Given the description of an element on the screen output the (x, y) to click on. 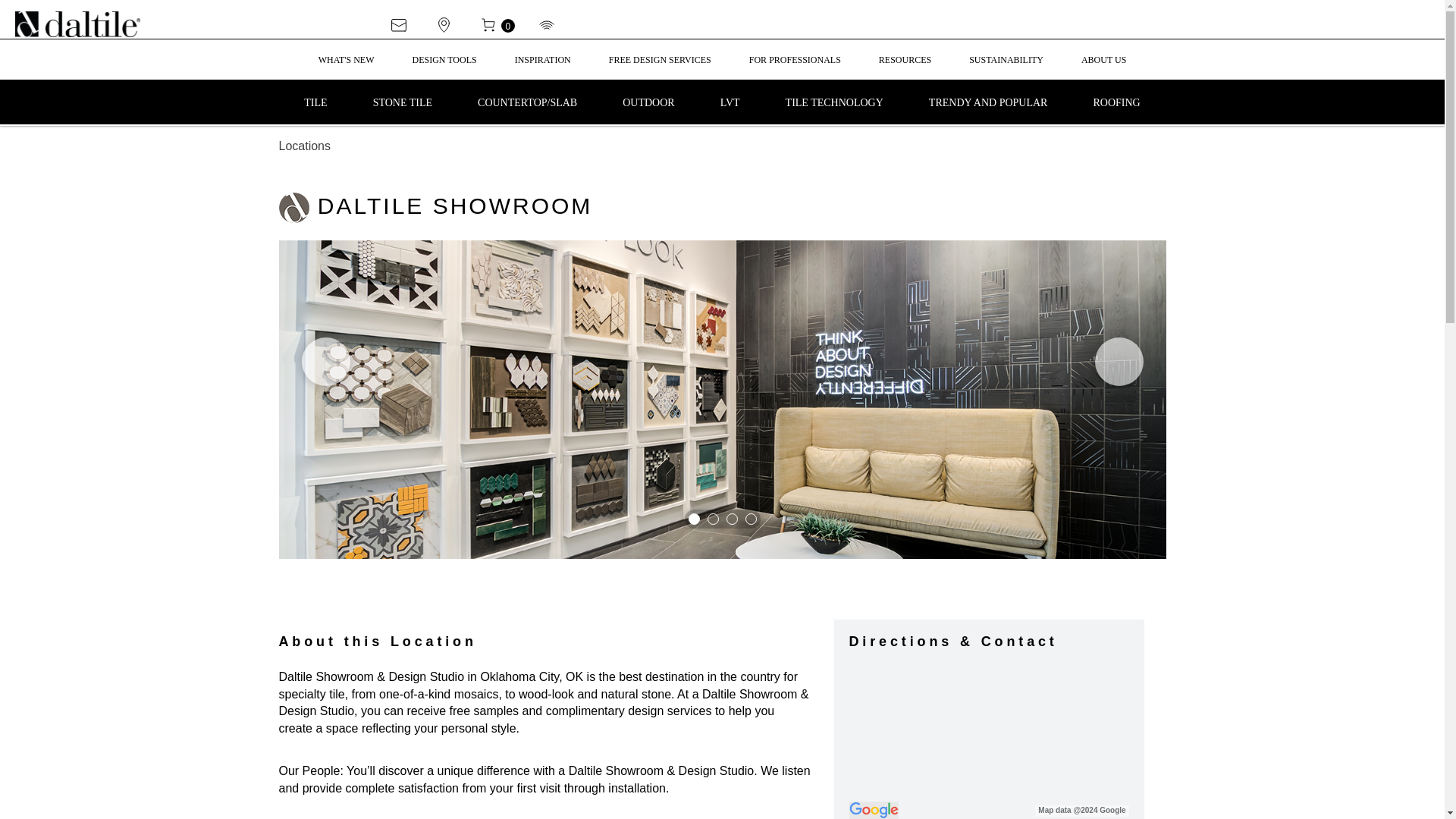
Site logo - desktop (93, 23)
DESIGN TOOLS (444, 66)
0 (507, 24)
INSPIRATION (542, 66)
WHAT'S NEW (346, 66)
